Given the description of an element on the screen output the (x, y) to click on. 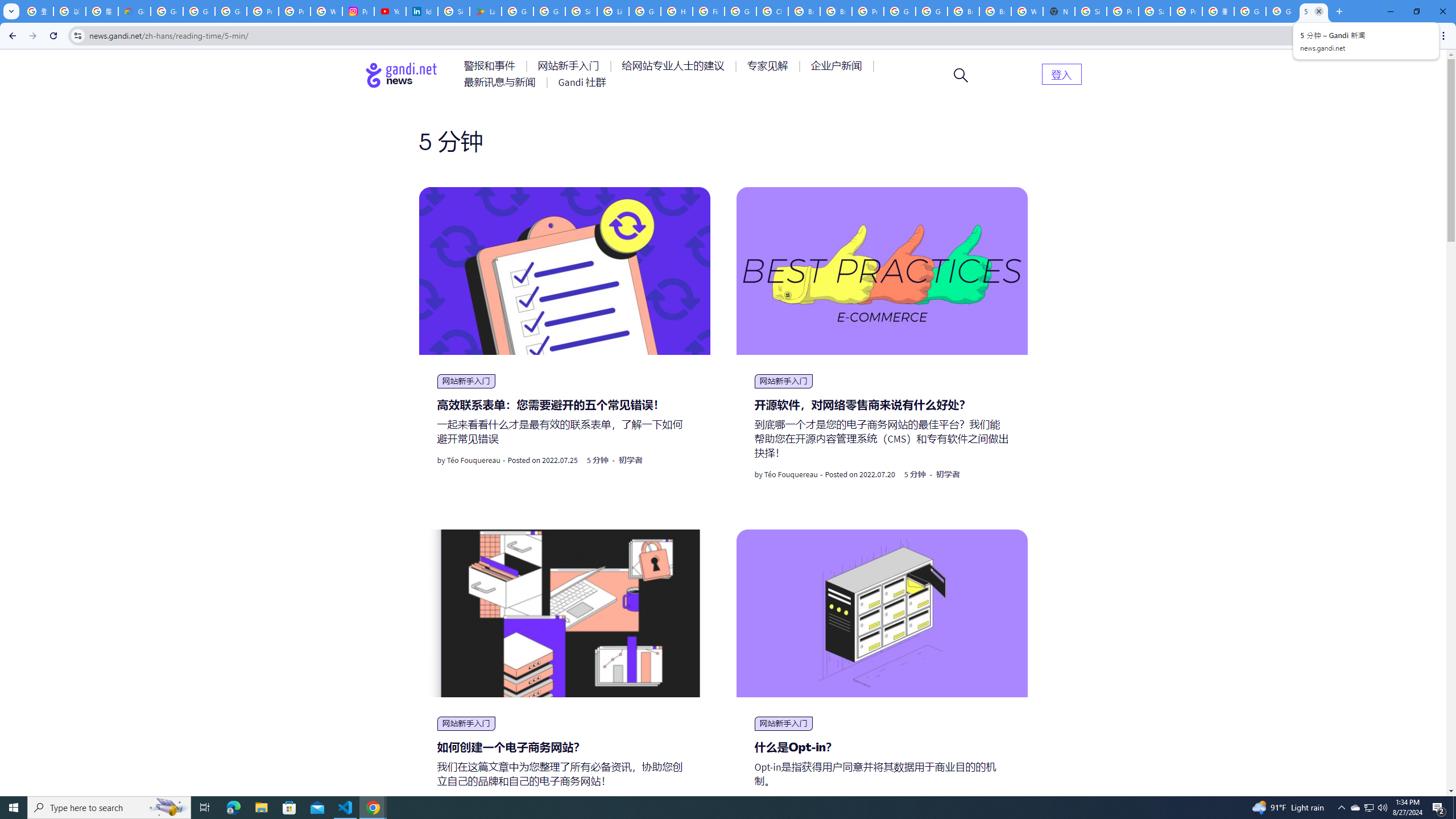
Browse Chrome as a guest - Computer - Google Chrome Help (963, 11)
Google Cloud Platform (931, 11)
Sign in - Google Accounts (453, 11)
